Given the description of an element on the screen output the (x, y) to click on. 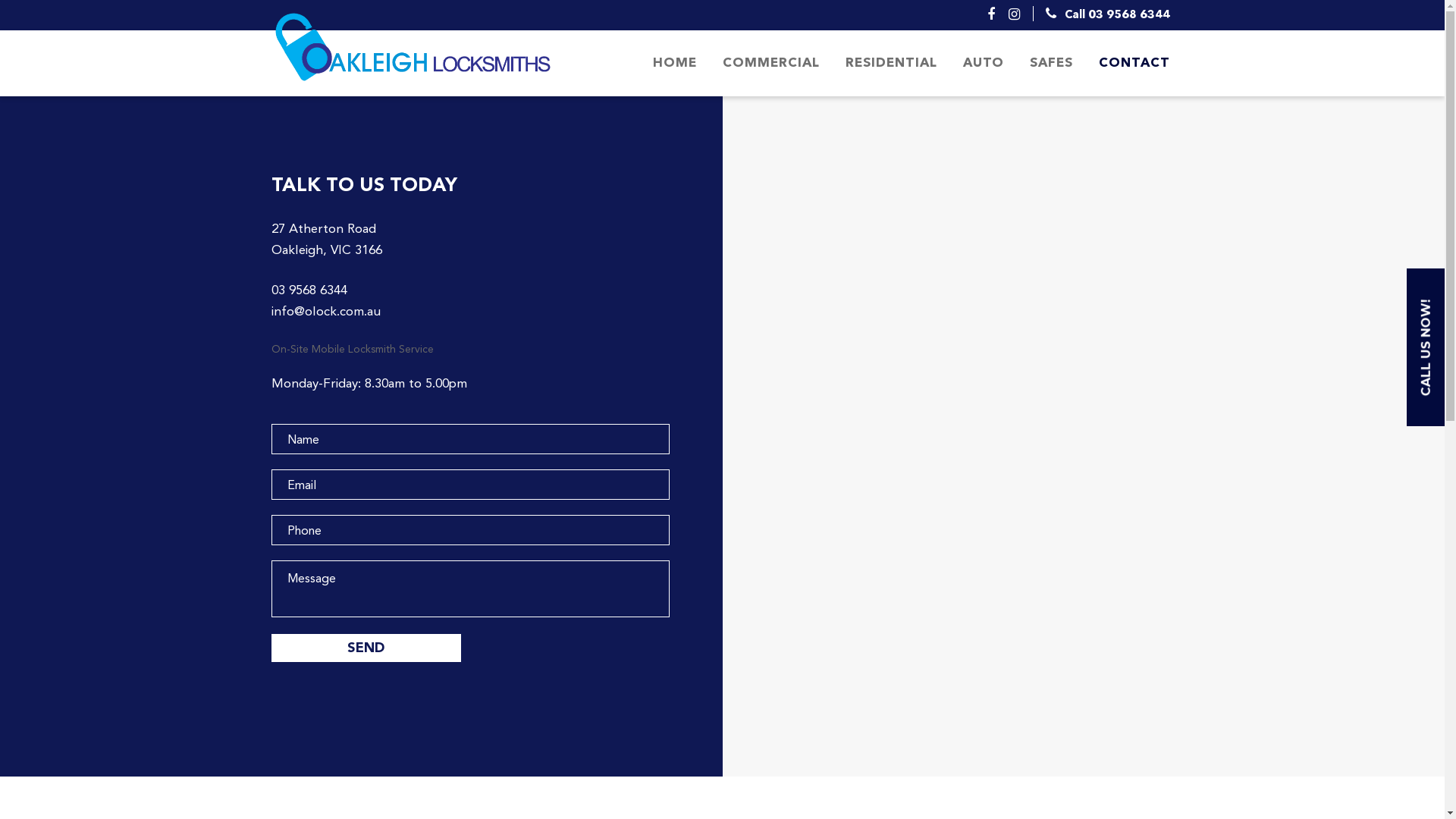
HOME Element type: text (674, 63)
CONTACT Element type: text (1128, 63)
Send Element type: text (366, 647)
03 9568 6344 Element type: text (309, 289)
RESIDENTIAL Element type: text (891, 63)
AUTO Element type: text (982, 63)
info@olock.com.au Element type: text (325, 310)
Call 03 9568 6344 Element type: text (1117, 15)
SAFES Element type: text (1050, 63)
OAKLEIGH LOCKSMITHS Element type: text (430, 46)
COMMERCIAL Element type: text (771, 63)
